Given the description of an element on the screen output the (x, y) to click on. 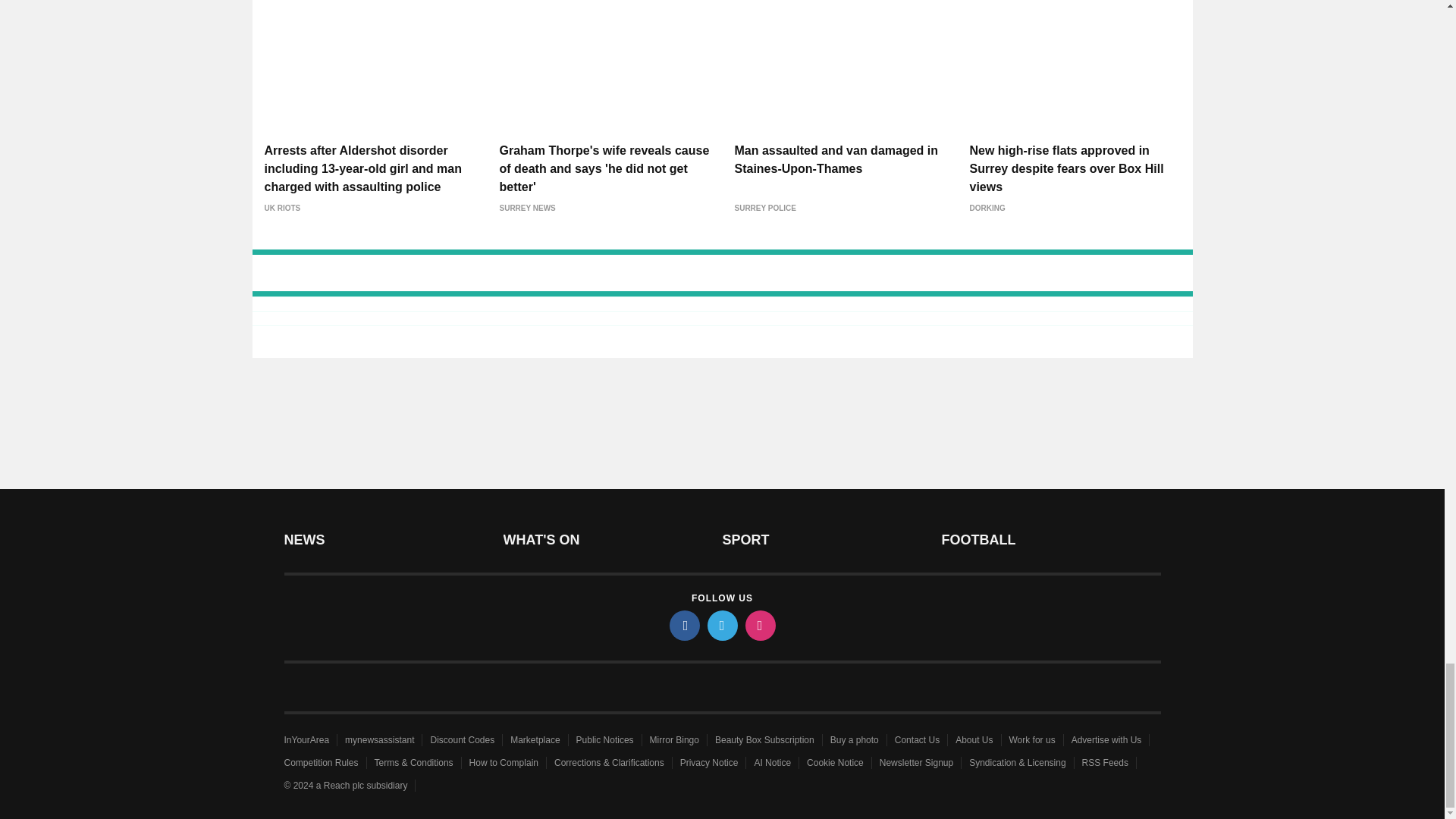
facebook (683, 625)
twitter (721, 625)
instagram (759, 625)
